Given the description of an element on the screen output the (x, y) to click on. 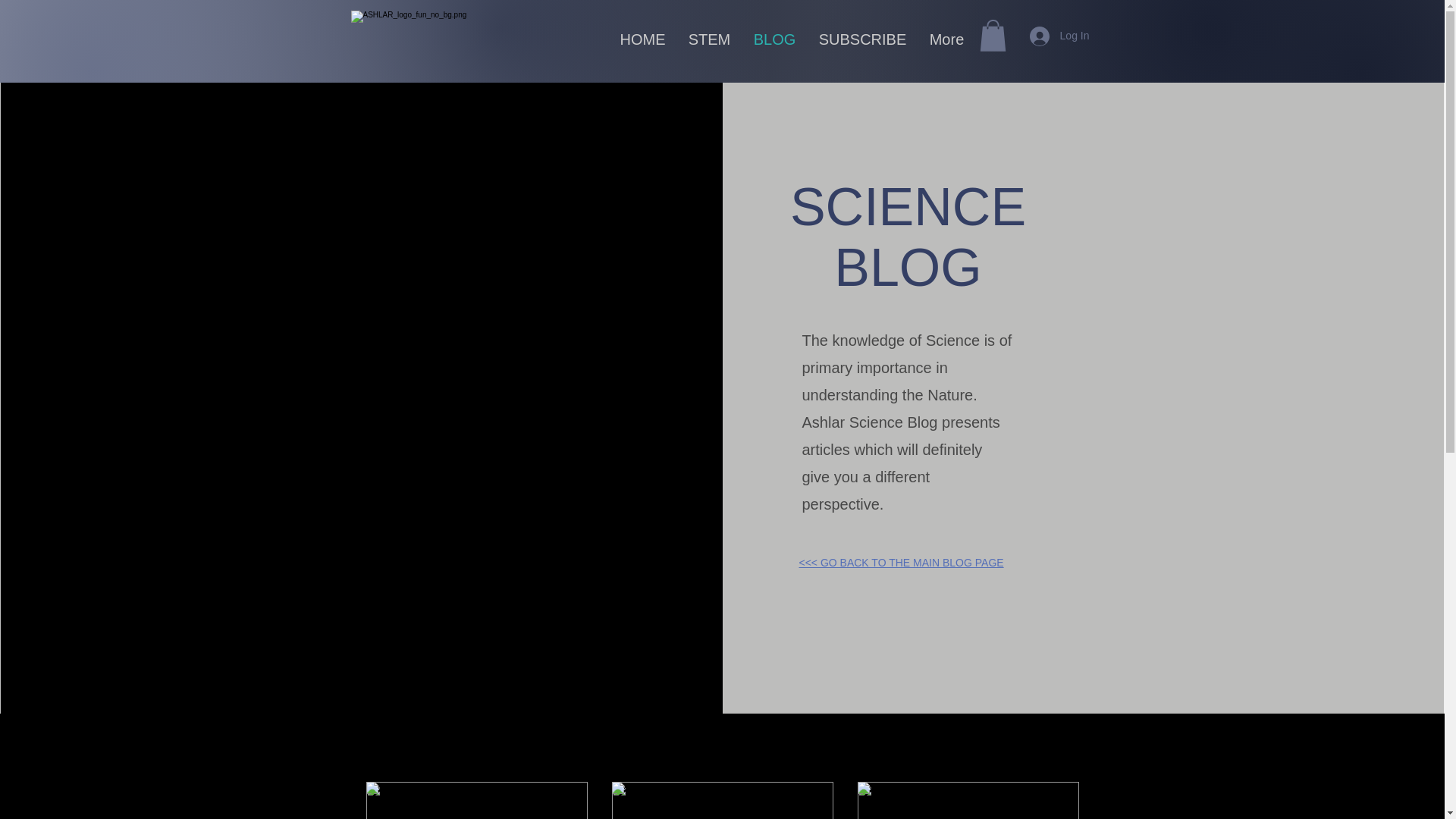
HOME (642, 39)
STEM (709, 39)
BLOG (773, 39)
Log In (1059, 35)
SUBSCRIBE (861, 39)
